Given the description of an element on the screen output the (x, y) to click on. 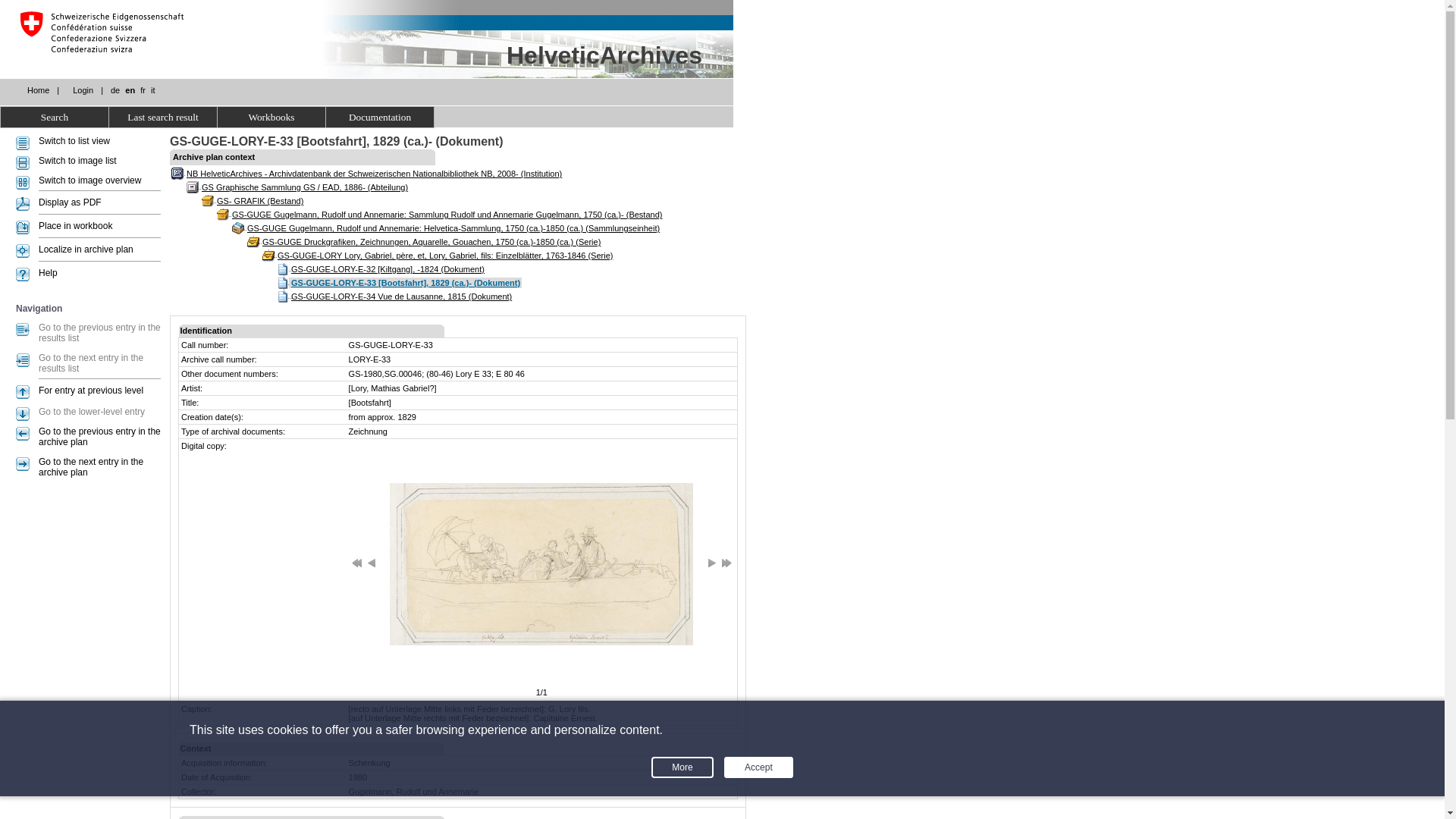
GS- GRAFIK (Bestand) Element type: text (259, 200)
en Element type: text (129, 89)
Localize in archive plan Element type: text (85, 249)
it Element type: text (152, 89)
GS-GUGE-LORY-E-32 [Kiltgang], -1824 (Dokument) Element type: text (387, 268)
Go to the next entry in the archive plan Element type: text (90, 466)
Switch to image list Element type: text (77, 160)
de Element type: text (115, 89)
First image Element type: hover (357, 563)
Last image Element type: hover (726, 563)
GS Graphische Sammlung GS / EAD, 1886- (Abteilung) Element type: text (304, 187)
Workbooks Element type: text (271, 117)
For entry at previous level Element type: text (90, 390)
Home Element type: text (37, 89)
Place in workbook Element type: text (75, 225)
GS-GUGE-LORY-E-33 [Bootsfahrt], 1829 (ca.)- (Dokument) Element type: text (404, 282)
GS-GUGE-LORY-E-34 Vue de Lausanne, 1815 (Dokument) Element type: text (400, 296)
Accept Element type: text (758, 767)
Switch to list view Element type: text (73, 140)
Next image Element type: hover (712, 563)
Help Element type: text (47, 272)
Search Element type: text (54, 117)
Switch to image overview Element type: text (89, 180)
More Element type: text (681, 767)
fr Element type: text (142, 89)
Login Element type: text (82, 89)
Last search result Element type: text (163, 117)
Previous image Element type: hover (371, 563)
Display as PDF Element type: text (69, 202)
Go to the previous entry in the archive plan Element type: text (99, 436)
Documentation Element type: text (380, 117)
